Given the description of an element on the screen output the (x, y) to click on. 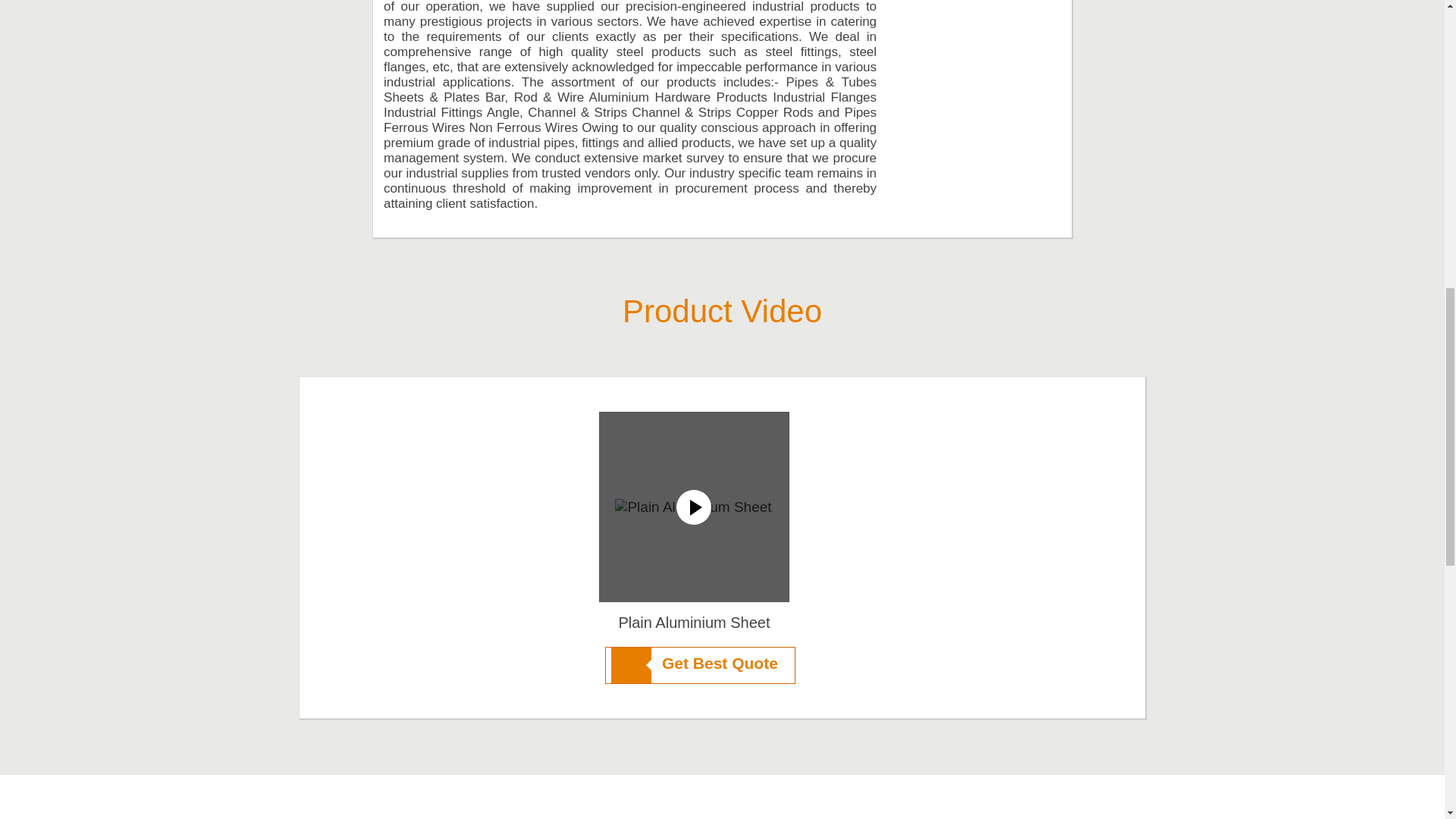
Plain Aluminium Sheet (693, 622)
Play (694, 506)
Product Video (722, 311)
